Given the description of an element on the screen output the (x, y) to click on. 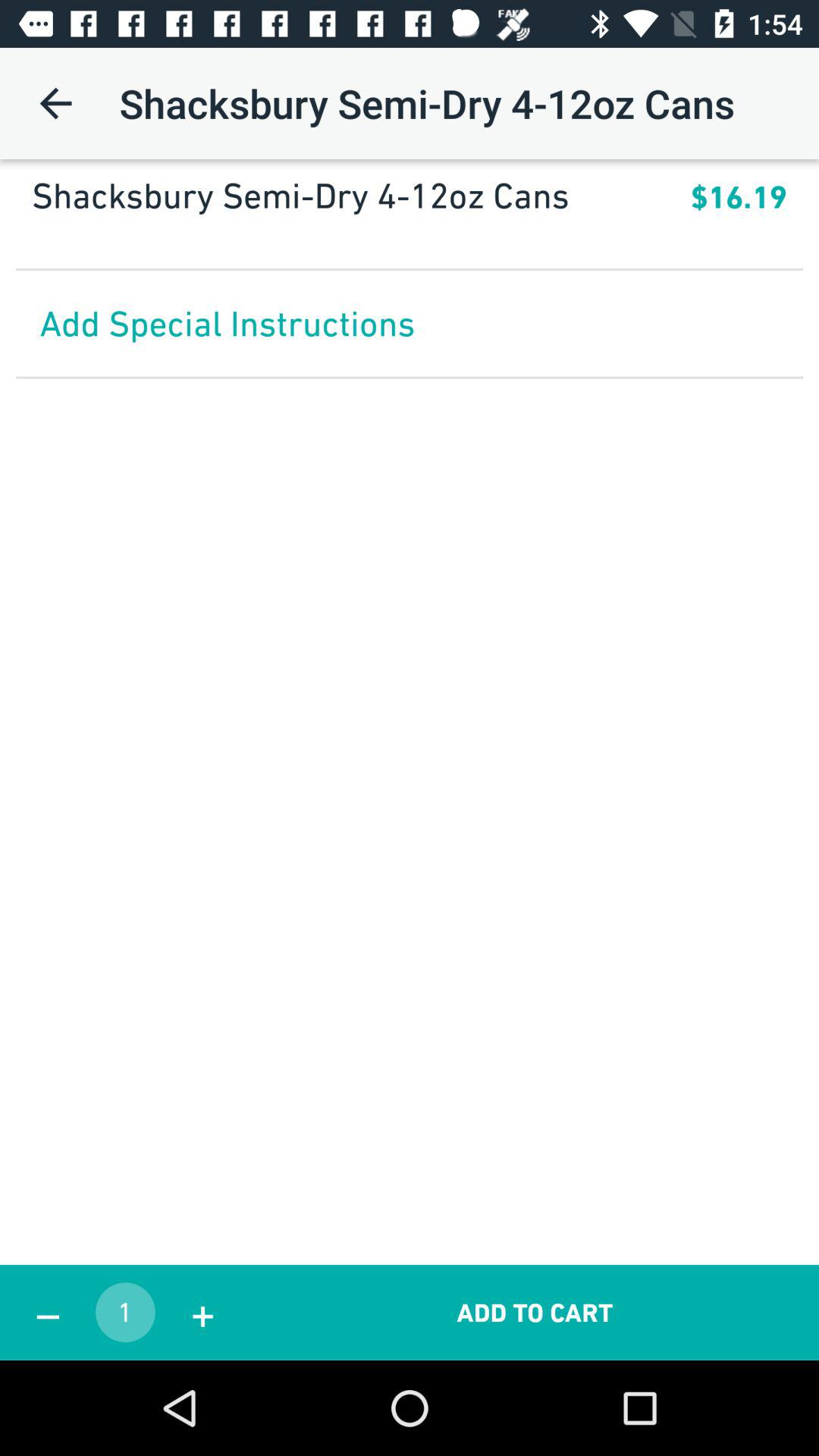
open item at the top left corner (55, 103)
